Given the description of an element on the screen output the (x, y) to click on. 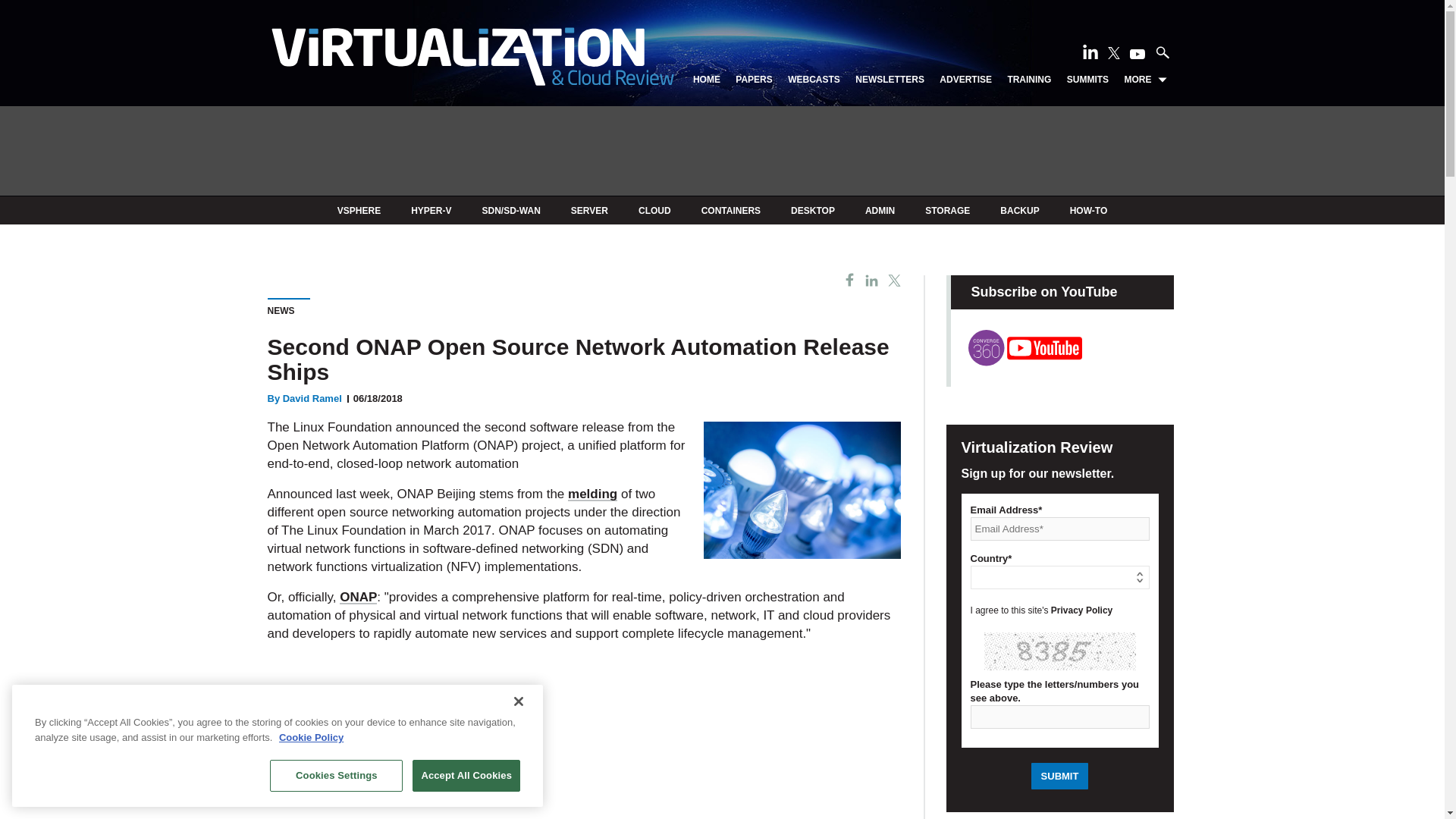
TRAINING (1029, 79)
MORE (1145, 79)
HOME (706, 79)
VSPHERE (358, 210)
WEBCASTS (813, 79)
ADVERTISE (965, 79)
HYPER-V (430, 210)
3rd party ad content (721, 151)
NEWSLETTERS (890, 79)
SUMMITS (1087, 79)
Submit (1059, 775)
CLOUD (655, 210)
3rd party ad content (583, 737)
PAPERS (753, 79)
SERVER (589, 210)
